Given the description of an element on the screen output the (x, y) to click on. 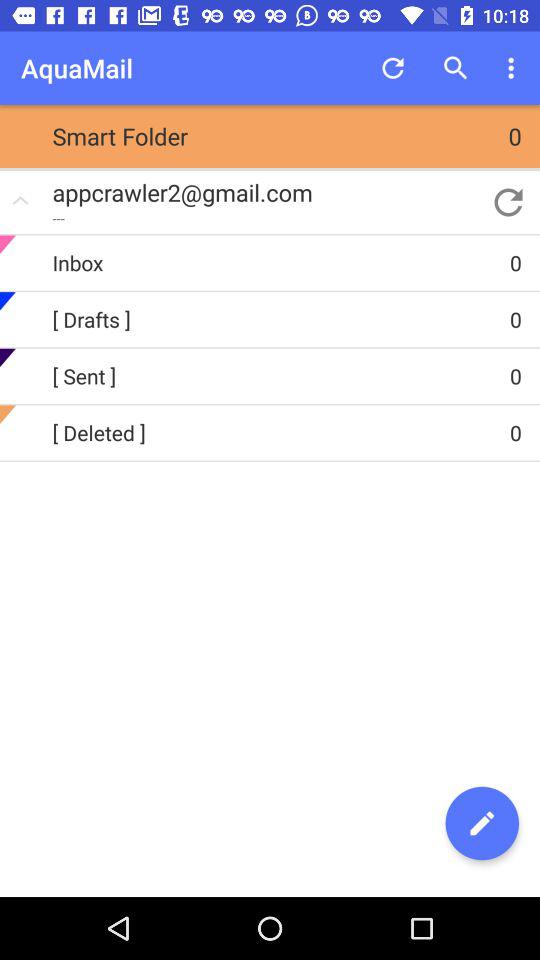
click the icon above smart folder icon (392, 67)
